Given the description of an element on the screen output the (x, y) to click on. 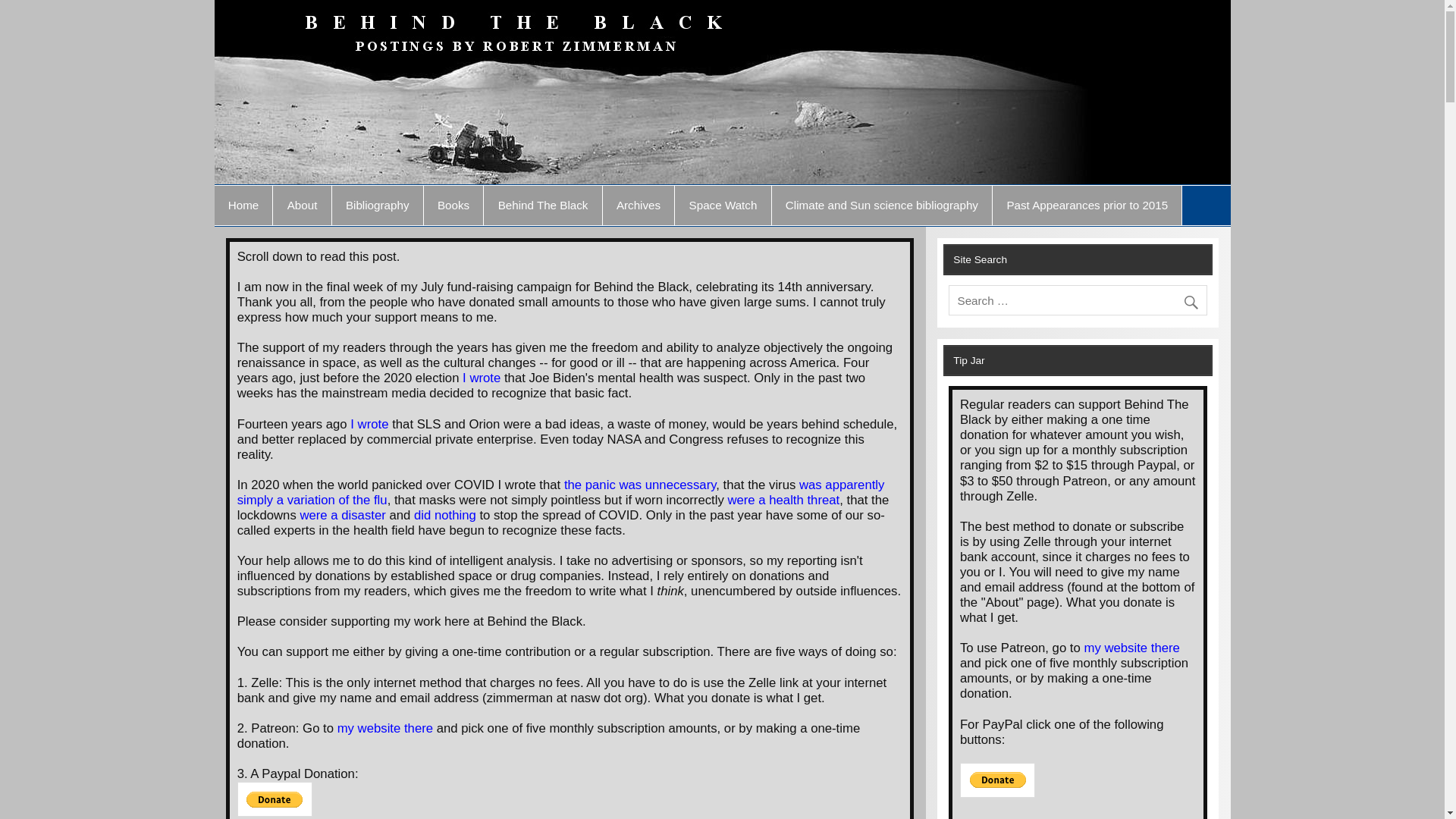
I wrote (369, 423)
I wrote (481, 377)
were a disaster (342, 514)
Books (453, 205)
did nothing (444, 514)
Bibliography (377, 205)
was apparently simply a variation of the flu (561, 491)
Behind The Black (542, 205)
Climate and Sun science bibliography (881, 205)
Home (243, 205)
my website there (384, 728)
were a health threat (783, 499)
About (301, 205)
Past Appearances prior to 2015 (1086, 205)
Space Watch (722, 205)
